Given the description of an element on the screen output the (x, y) to click on. 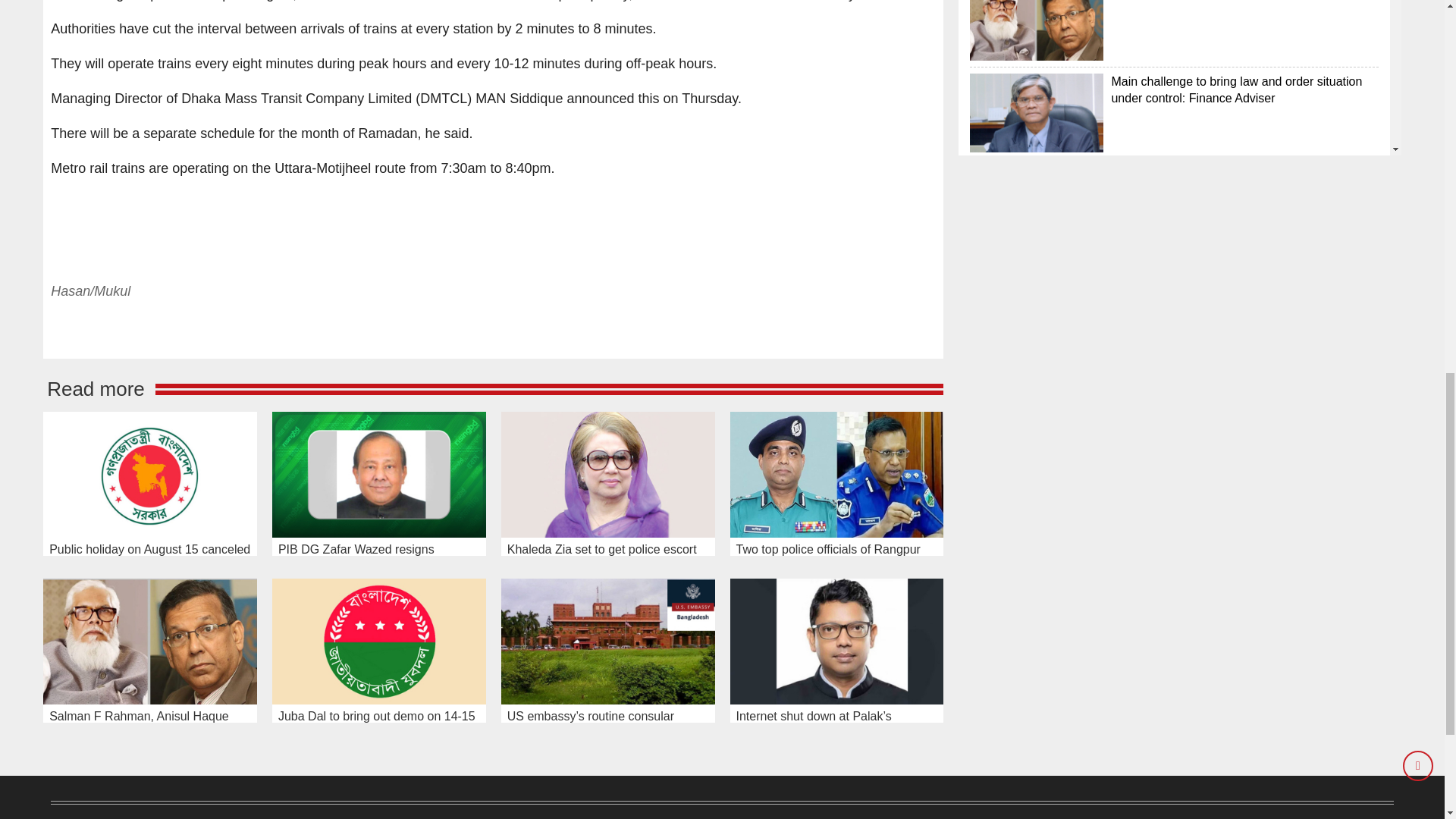
Public holiday on August 15 canceled (150, 474)
Khaleda Zia set to get police escort (607, 474)
Salman F Rahman, Anisul Haque arrested (150, 640)
